Given the description of an element on the screen output the (x, y) to click on. 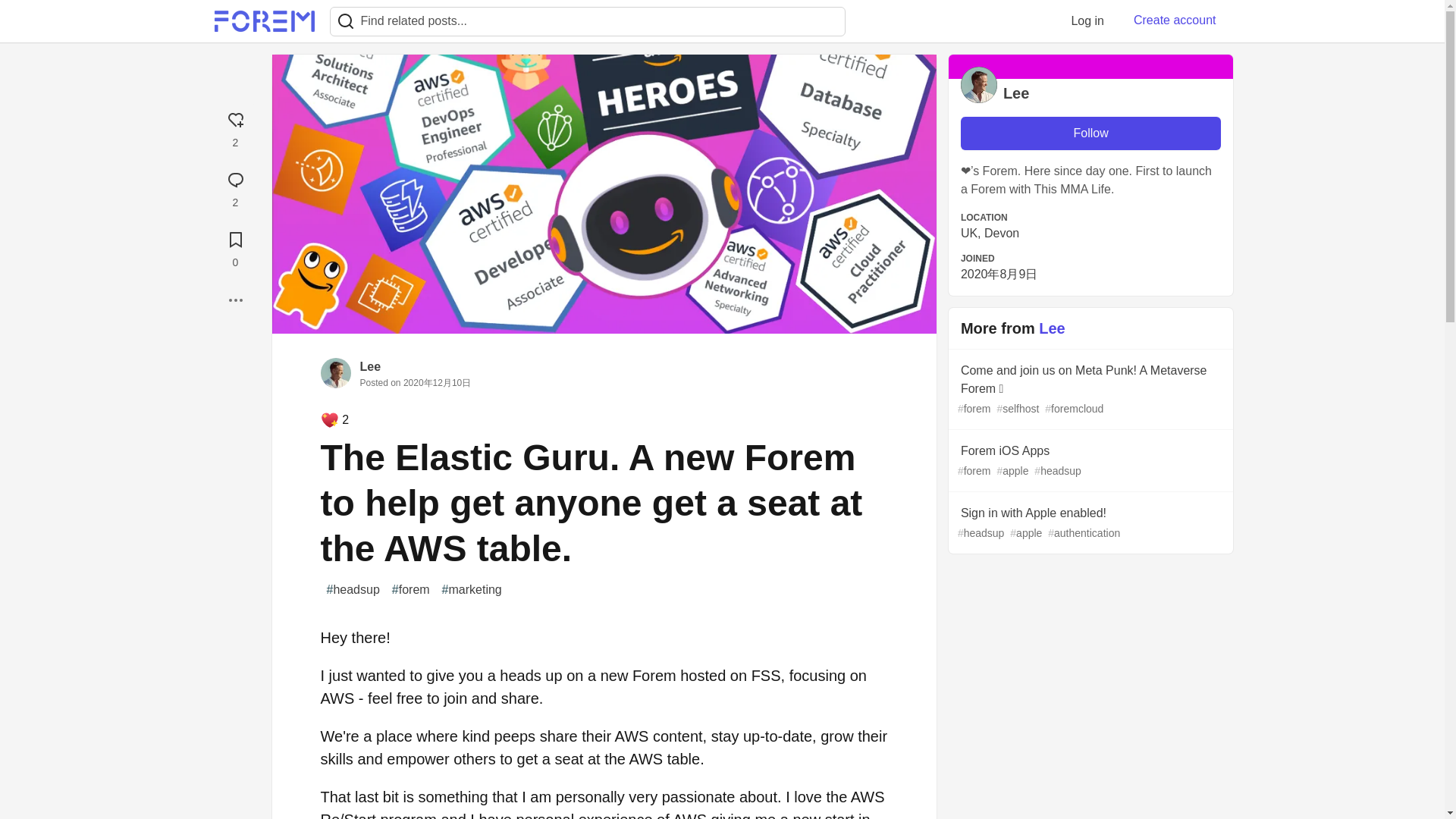
Lee (369, 366)
0 (235, 247)
Log in (1087, 20)
2 (235, 187)
More... (234, 299)
More... (234, 300)
Create account (1174, 20)
